Given the description of an element on the screen output the (x, y) to click on. 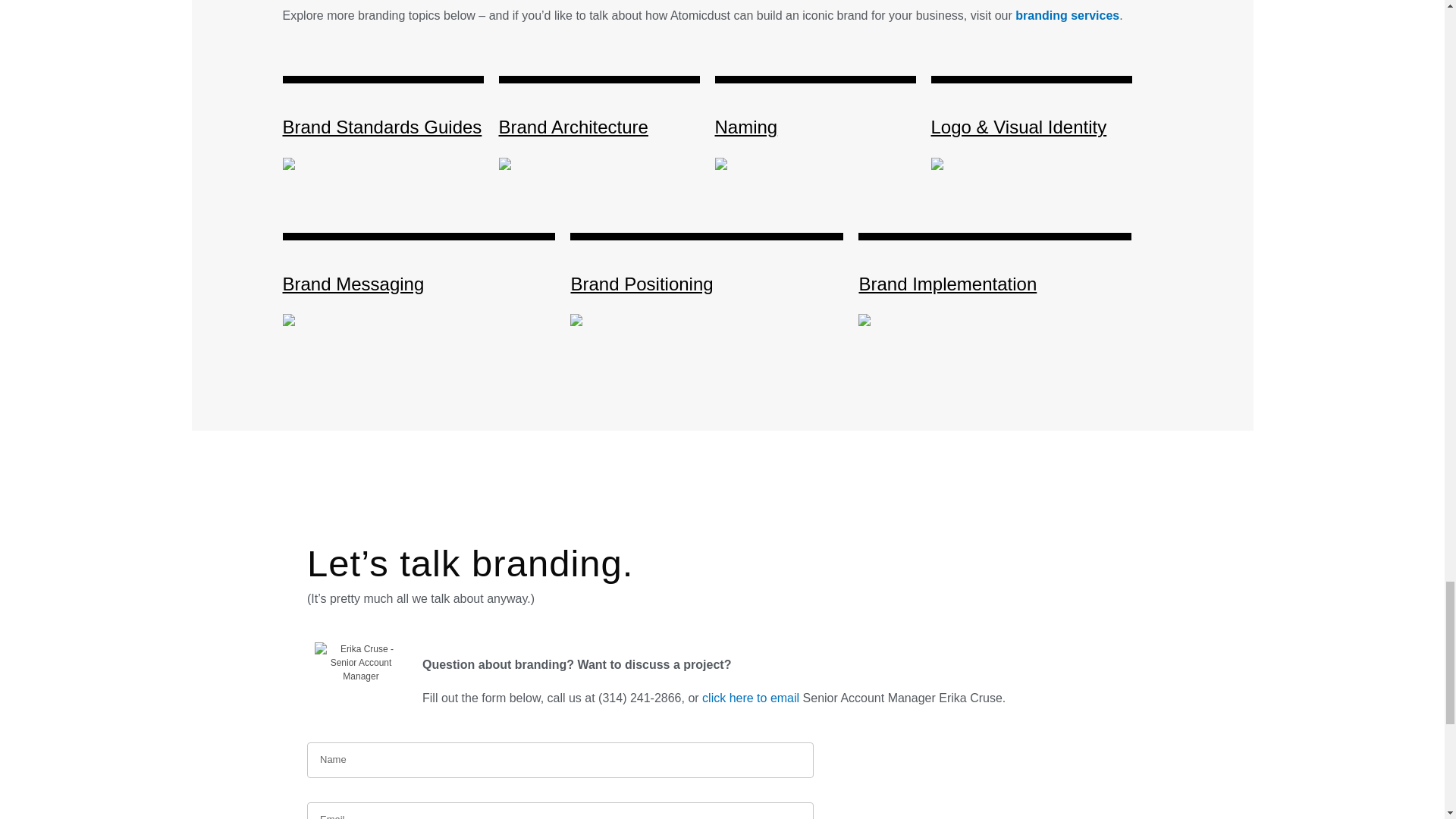
click here to email (750, 697)
Brand Positioning (641, 283)
branding services (1066, 15)
Brand Implementation (947, 283)
Brand Messaging (352, 283)
Brand Standards Guides (381, 127)
Brand Architecture (573, 127)
Naming (745, 127)
